Given the description of an element on the screen output the (x, y) to click on. 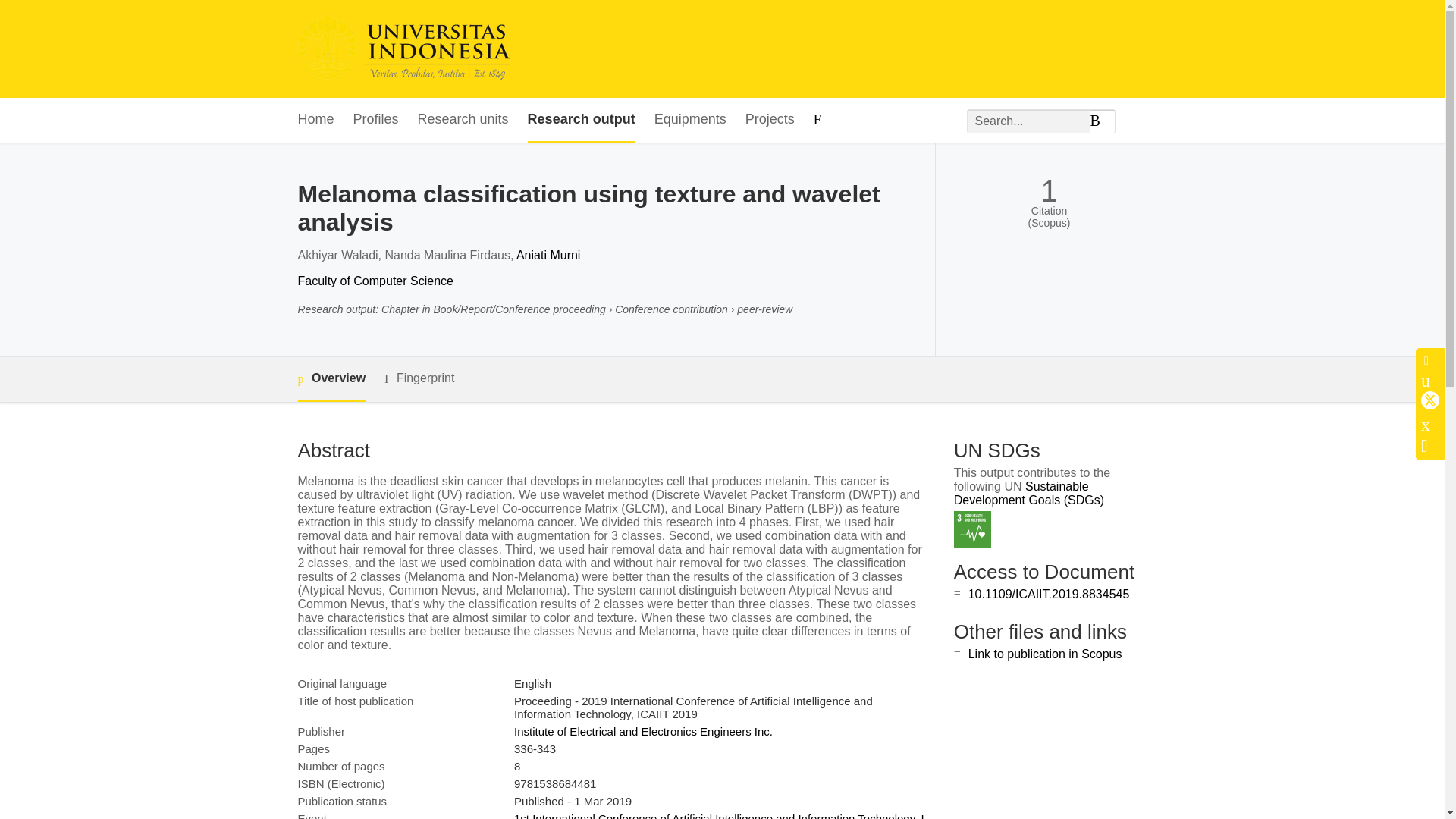
Fingerprint (419, 378)
Aniati Murni (547, 254)
Research output (580, 119)
Universitas Indonesia Home (403, 48)
SDG 3 - Good Health and Well-being (972, 529)
Profiles (375, 119)
Overview (331, 379)
Institute of Electrical and Electronics Engineers Inc. (643, 730)
Faculty of Computer Science (374, 280)
